Given the description of an element on the screen output the (x, y) to click on. 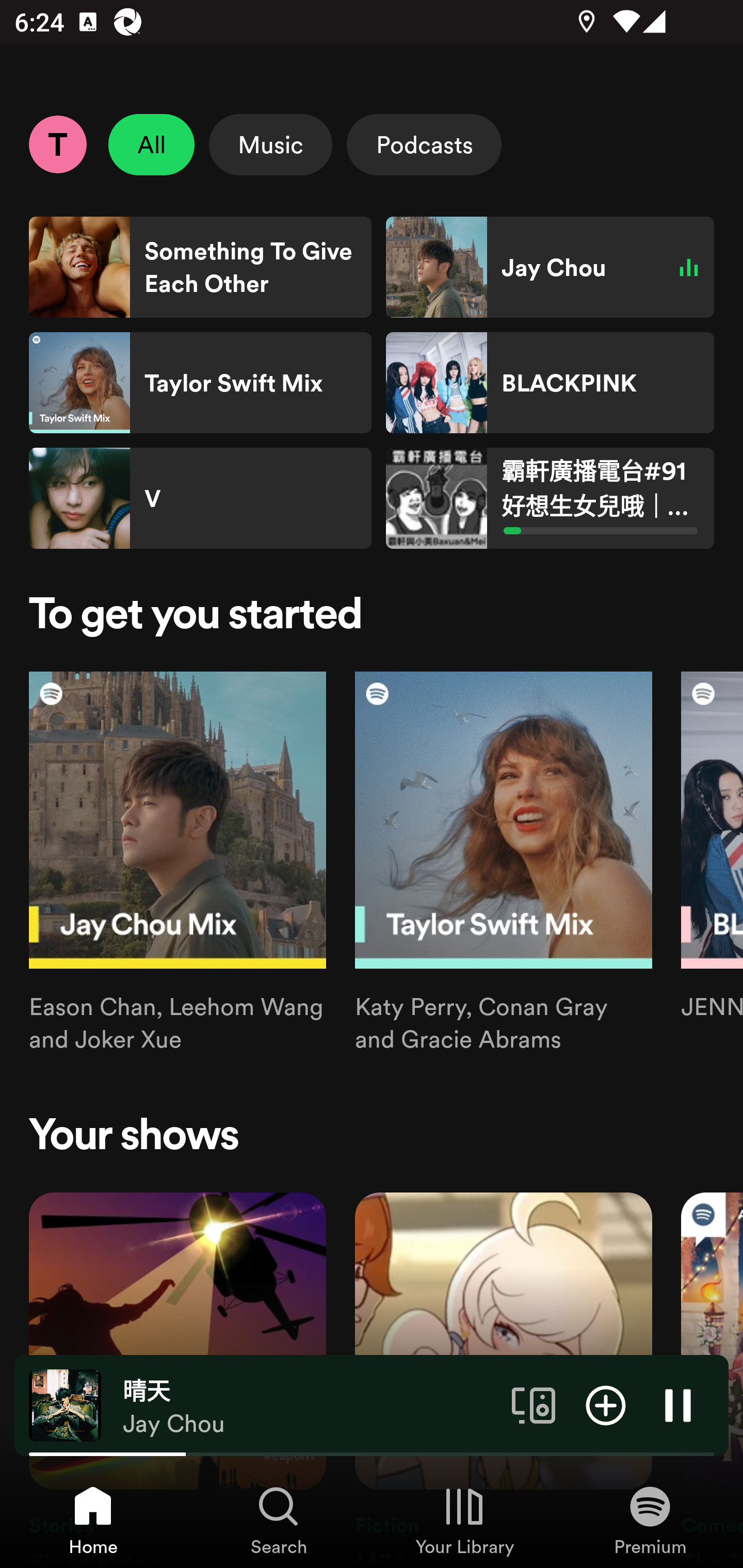
Profile (57, 144)
All Unselect All (151, 144)
Music Select Music (270, 144)
Podcasts Select Podcasts (423, 144)
Jay Chou Shortcut Jay Chou Playing (549, 267)
Taylor Swift Mix Shortcut Taylor Swift Mix (199, 382)
BLACKPINK Shortcut BLACKPINK (549, 382)
V Shortcut V (199, 498)
晴天 Jay Chou (309, 1405)
The cover art of the currently playing track (64, 1404)
Connect to a device. Opens the devices menu (533, 1404)
Add item (605, 1404)
Pause (677, 1404)
Home, Tab 1 of 4 Home Home (92, 1519)
Search, Tab 2 of 4 Search Search (278, 1519)
Your Library, Tab 3 of 4 Your Library Your Library (464, 1519)
Premium, Tab 4 of 4 Premium Premium (650, 1519)
